Given the description of an element on the screen output the (x, y) to click on. 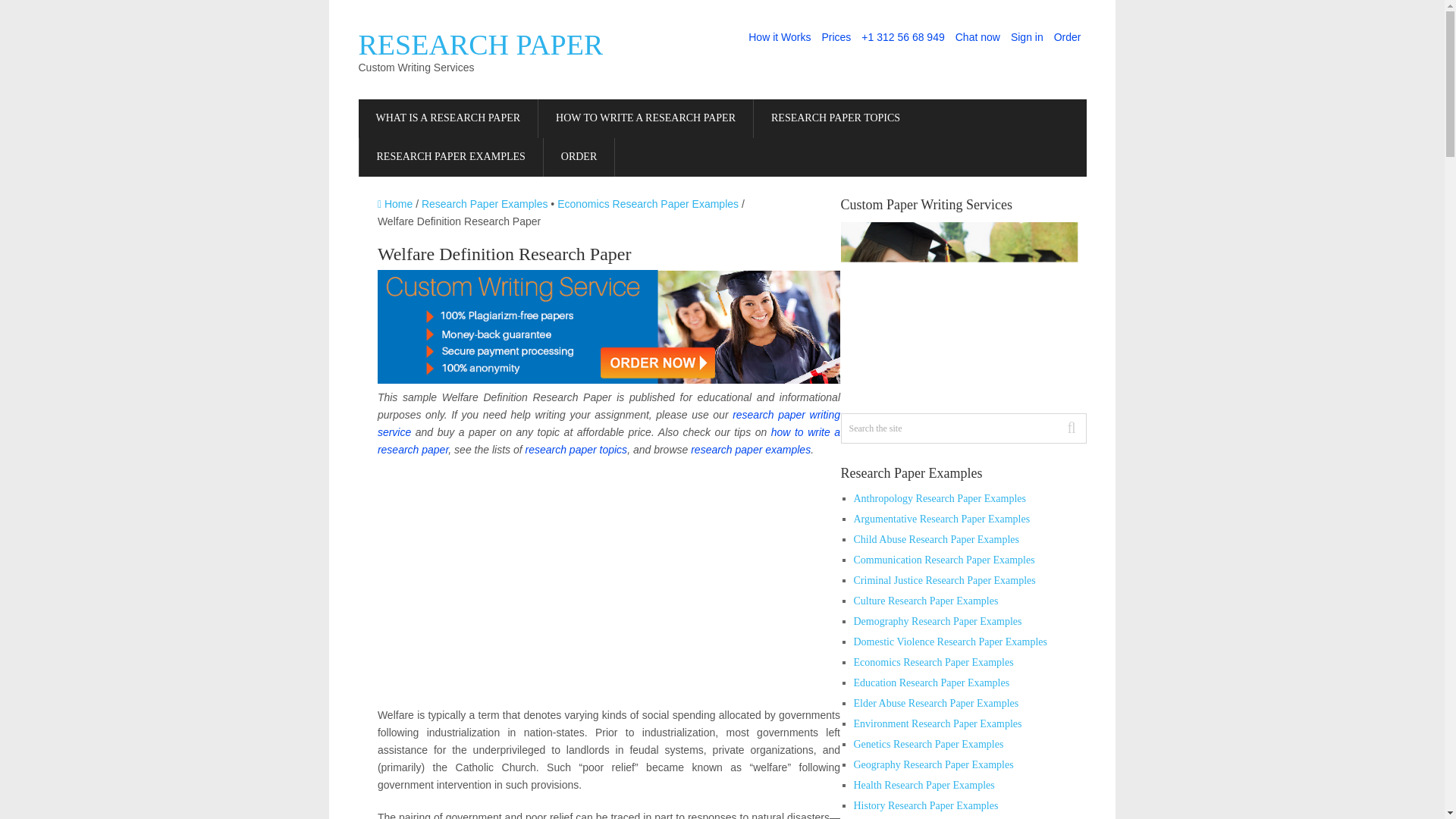
Chat now (978, 37)
ORDER (578, 157)
Prices (835, 37)
Argumentative Research Paper Examples (941, 518)
research paper writing service (608, 423)
RESEARCH PAPER (480, 44)
Anthropology Research Paper Examples (939, 498)
Buy Custom Research Paper (578, 157)
RESEARCH PAPER EXAMPLES (451, 157)
Economics Research Paper Examples (647, 203)
